Given the description of an element on the screen output the (x, y) to click on. 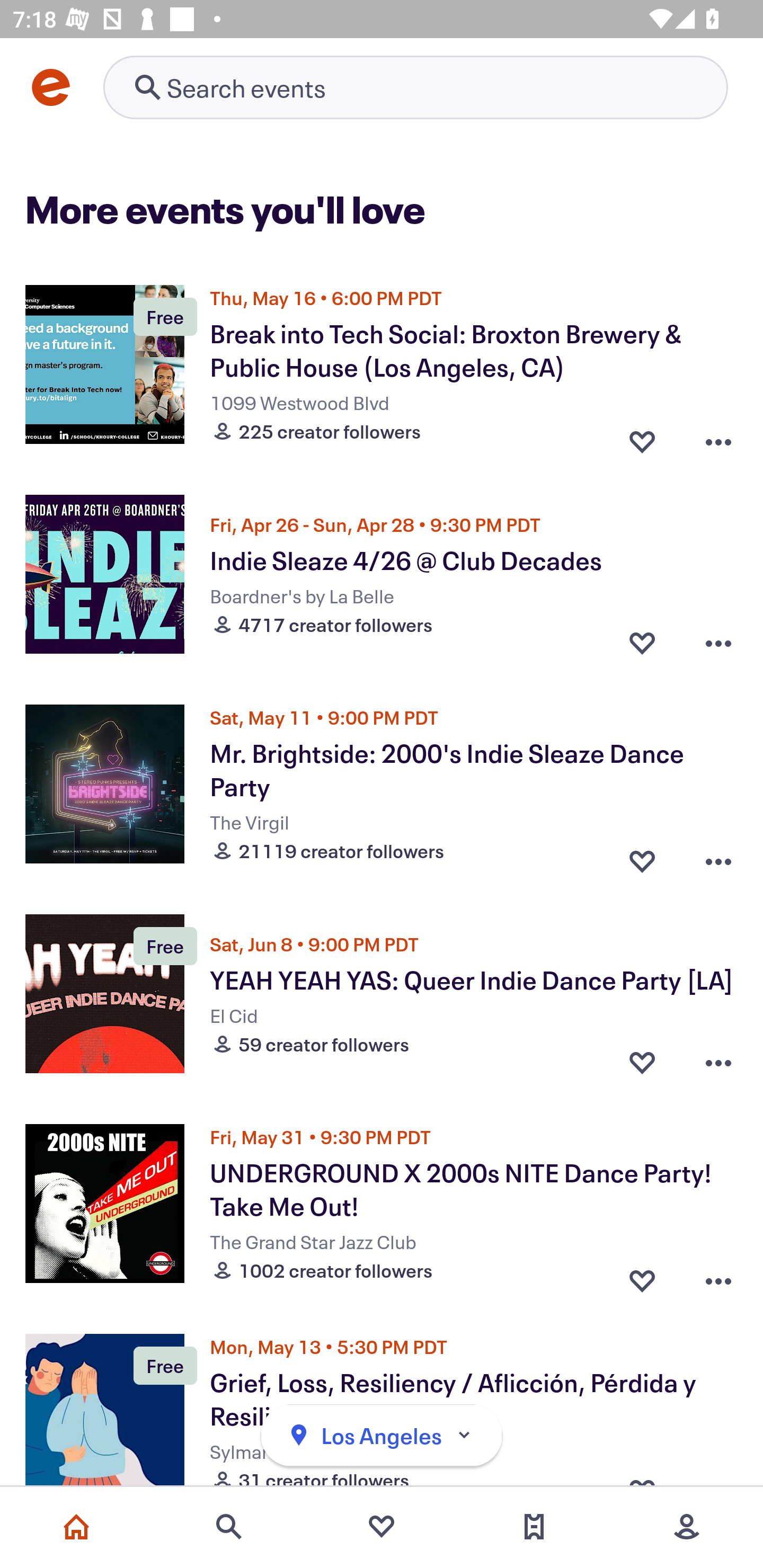
Retry's image Search events (415, 86)
Favorite button (642, 436)
Overflow menu button (718, 436)
Favorite button (642, 641)
Overflow menu button (718, 641)
Favorite button (642, 856)
Overflow menu button (718, 856)
Favorite button (642, 1062)
Overflow menu button (718, 1062)
Favorite button (642, 1275)
Overflow menu button (718, 1275)
Los Angeles (381, 1435)
Home (76, 1526)
Search events (228, 1526)
Favorites (381, 1526)
Tickets (533, 1526)
More (686, 1526)
